Given the description of an element on the screen output the (x, y) to click on. 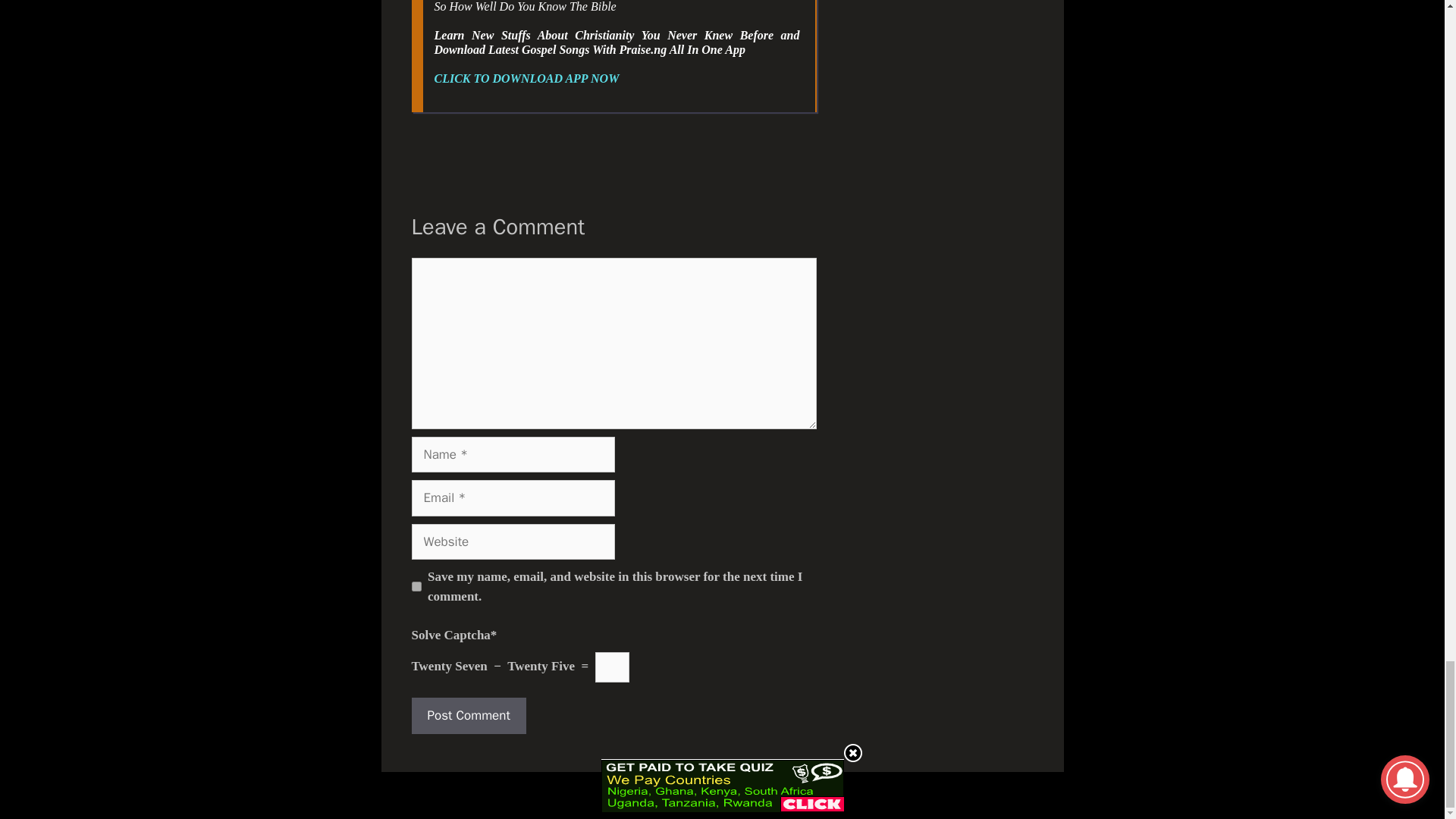
CLICK TO DOWNLOAD APP NOW (525, 78)
Praise.ng (743, 795)
Post Comment (467, 715)
Post Comment (467, 715)
yes (415, 586)
